Given the description of an element on the screen output the (x, y) to click on. 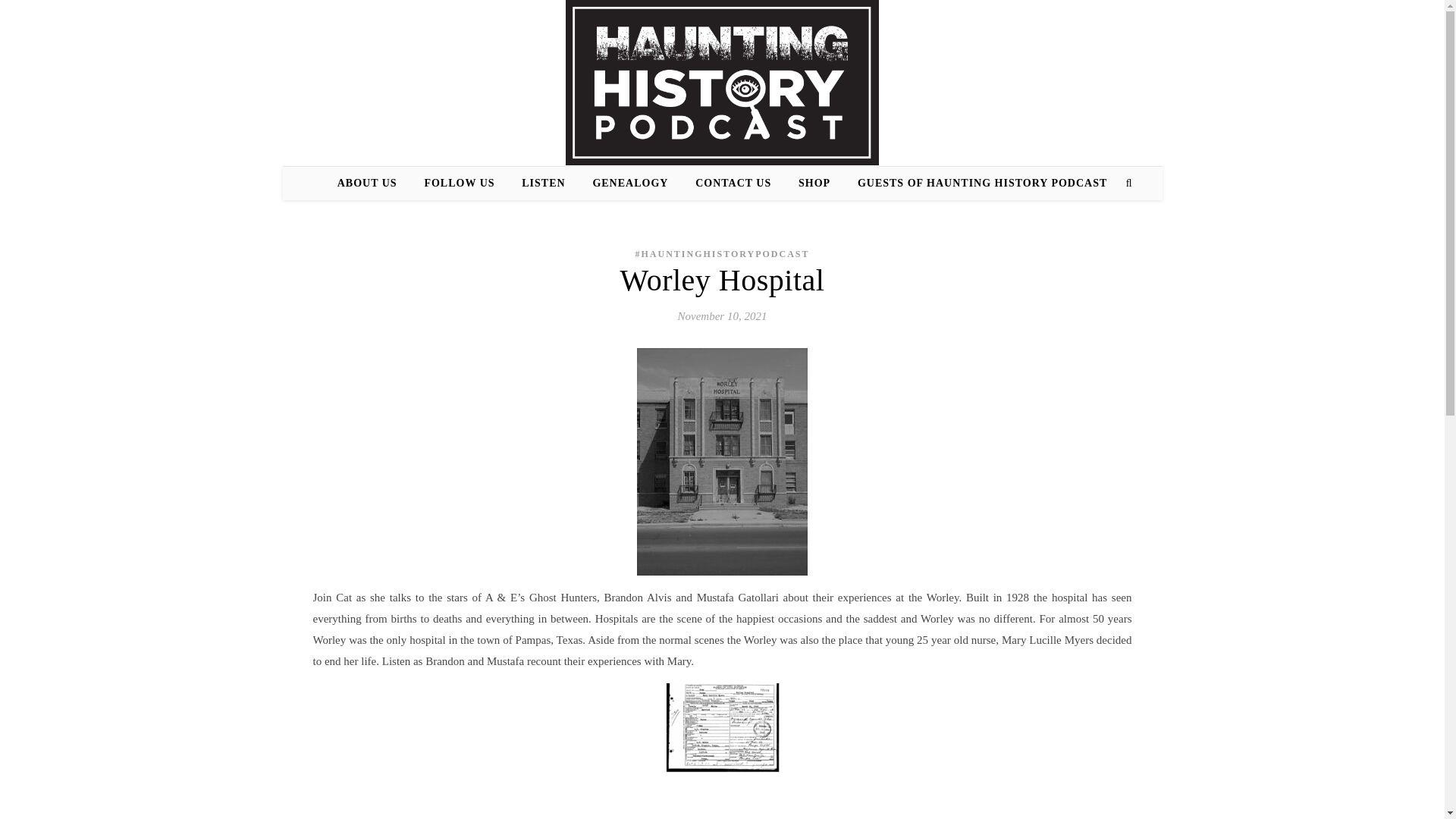
FOLLOW US (459, 183)
ABOUT US (373, 183)
SHOP (814, 183)
GENEALOGY (629, 183)
LISTEN (542, 183)
CONTACT US (732, 183)
GUESTS OF HAUNTING HISTORY PODCAST (975, 183)
